Given the description of an element on the screen output the (x, y) to click on. 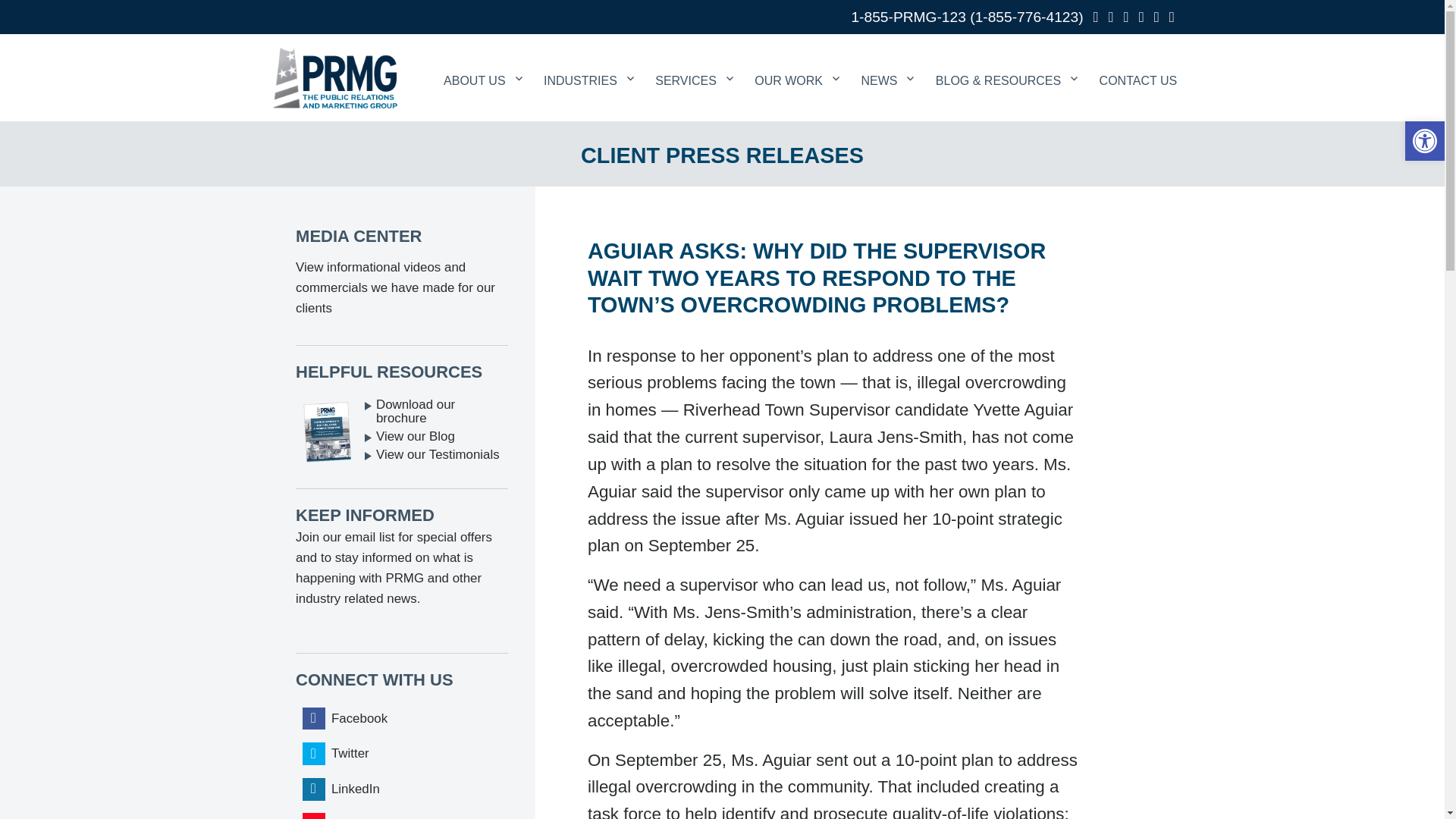
ABOUT US (482, 61)
1-855-PRMG-123 (907, 17)
INDUSTRIES (588, 61)
Long Island Public Relations and Marketing Company (334, 76)
SERVICES (694, 61)
1-855-776-4123 (1026, 17)
Accessibility Tools (1424, 140)
